Given the description of an element on the screen output the (x, y) to click on. 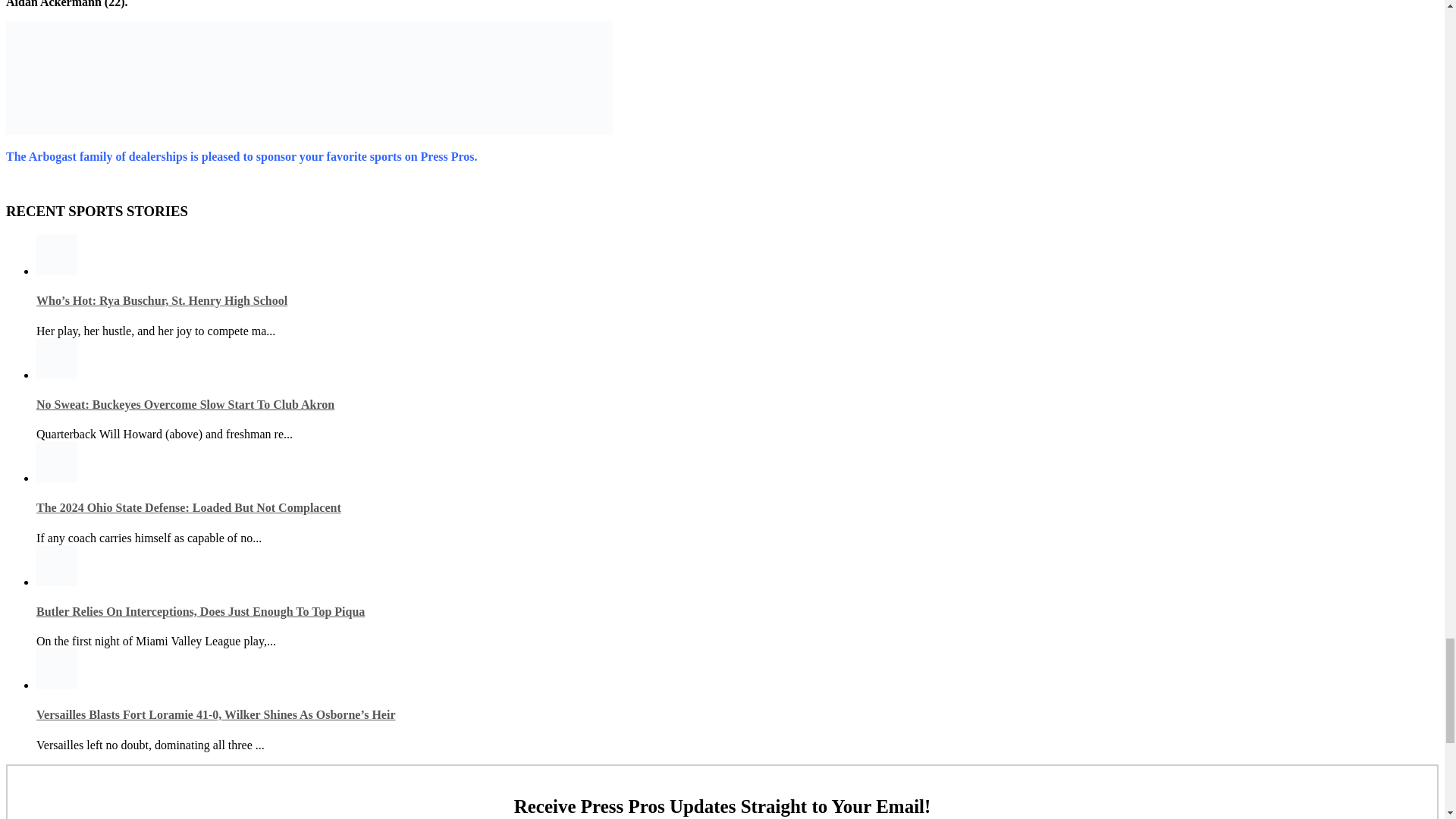
No Sweat: Buckeyes Overcome Slow Start To Club Akron (185, 404)
The 2024 Ohio State Defense: Loaded But Not Complacent (188, 507)
No Sweat: Buckeyes Overcome Slow Start To Club Akron (185, 404)
The 2024 Ohio State Defense: Loaded But Not Complacent (188, 507)
